Given the description of an element on the screen output the (x, y) to click on. 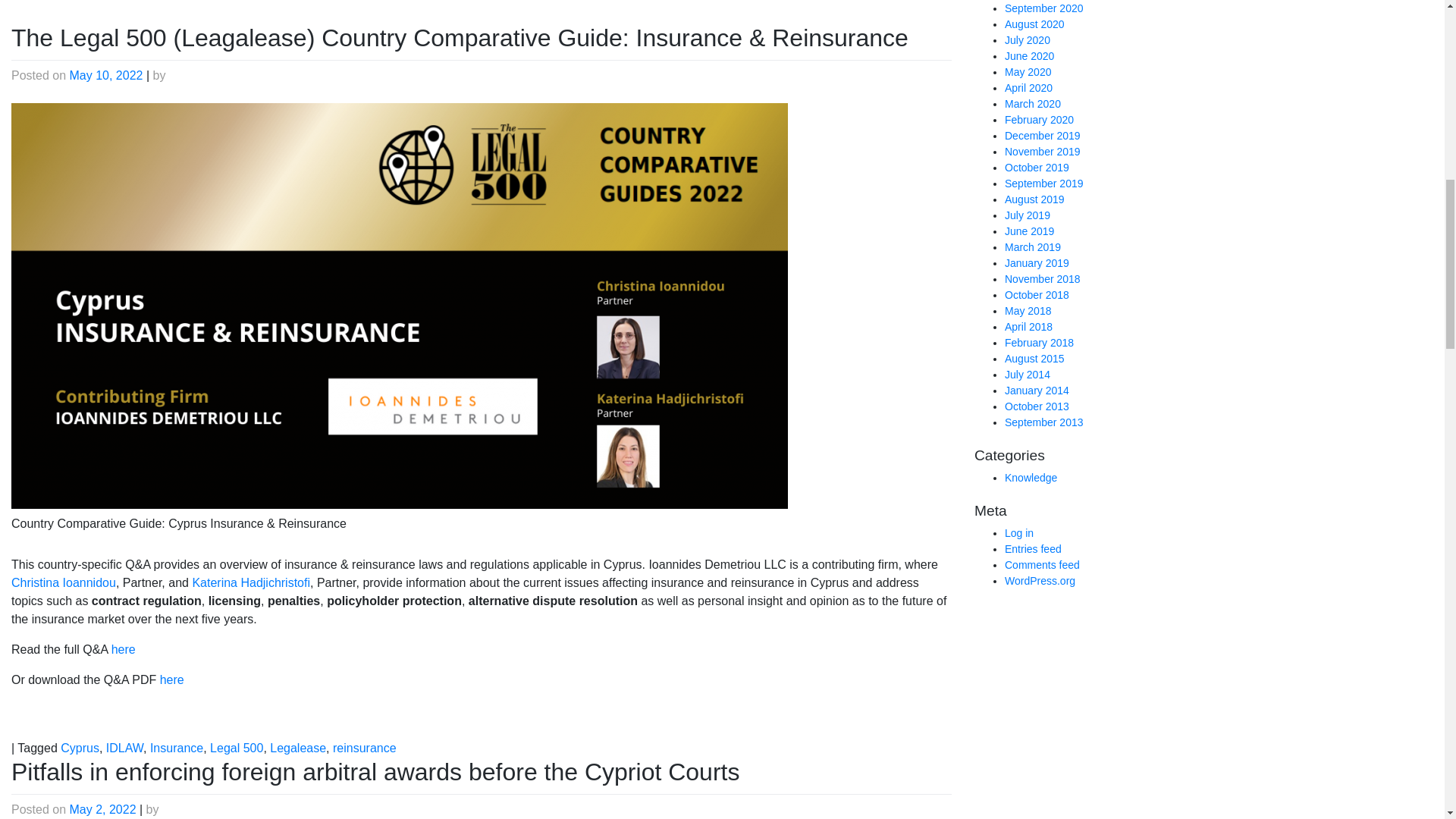
reinsurance (364, 748)
Legal 500 (236, 748)
IDLAW (124, 748)
May 10, 2022 (105, 74)
Christina Ioannidou (63, 582)
Insurance (176, 748)
Cyprus (80, 748)
May 2, 2022 (102, 809)
Legalease (297, 748)
